Given the description of an element on the screen output the (x, y) to click on. 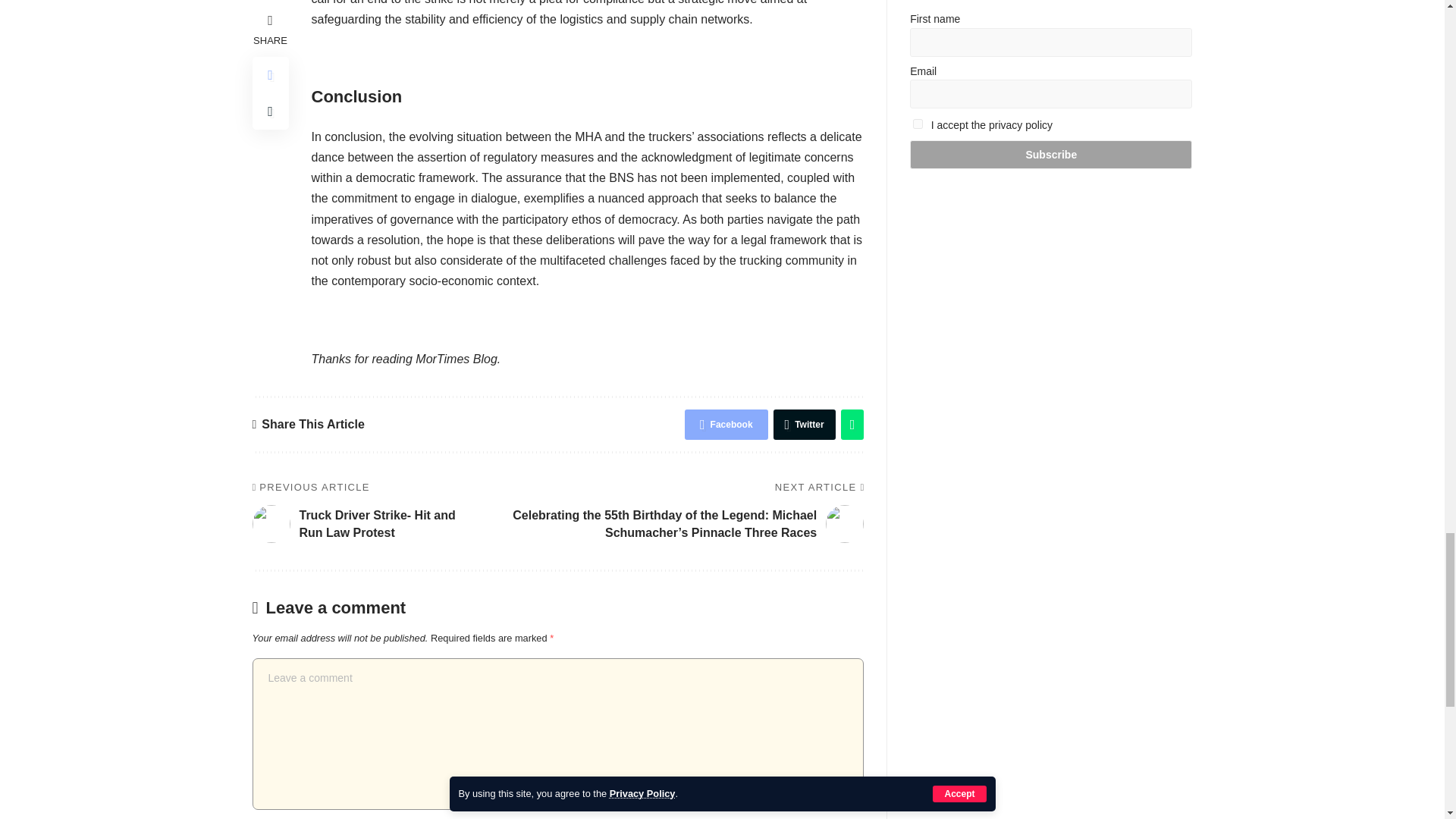
Subscribe (1051, 154)
on (917, 123)
